Given the description of an element on the screen output the (x, y) to click on. 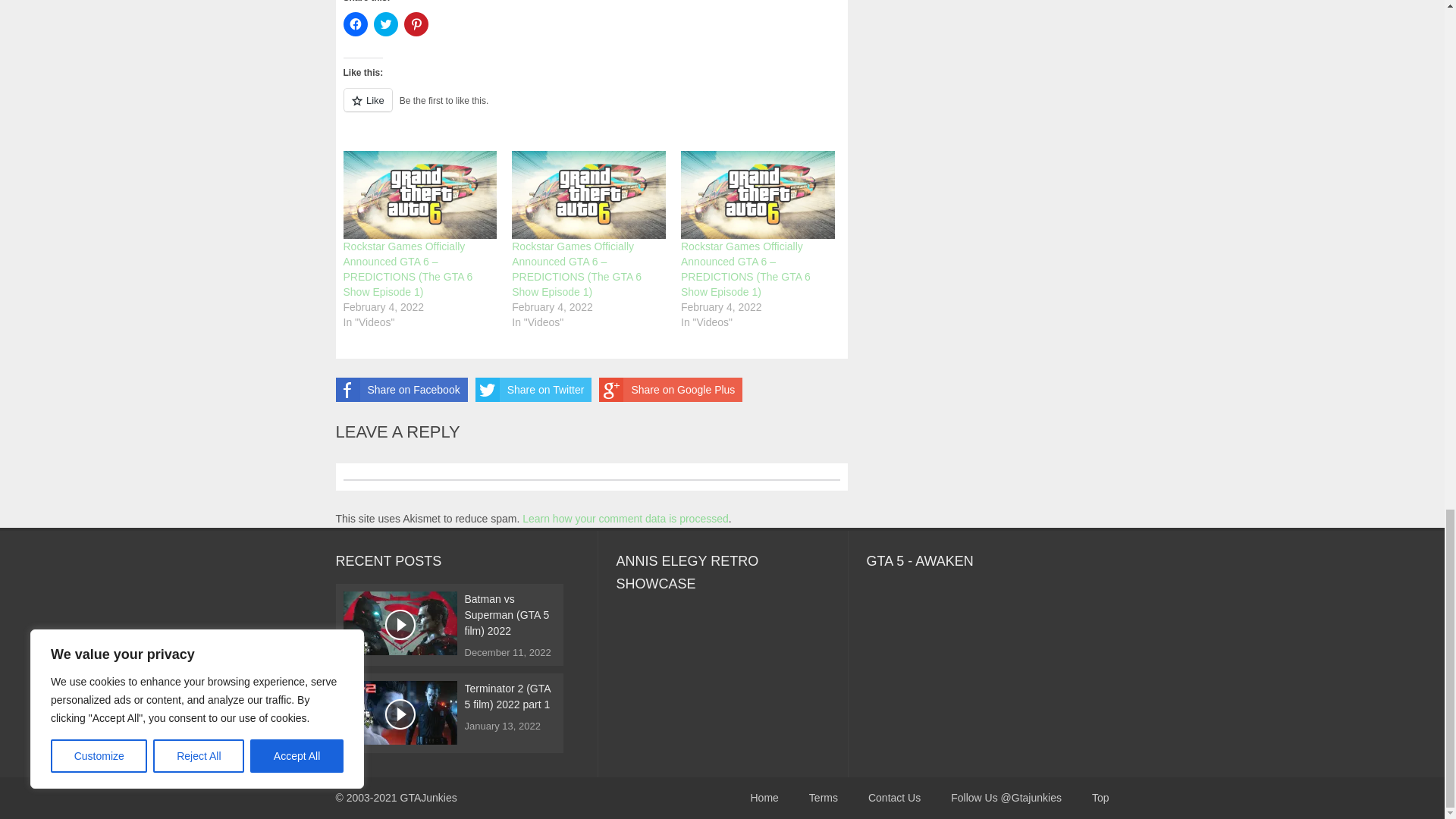
Click to share on Twitter (384, 24)
Like or Reblog (591, 108)
Click to share on Pinterest (415, 24)
Click to share on Facebook (354, 24)
